Given the description of an element on the screen output the (x, y) to click on. 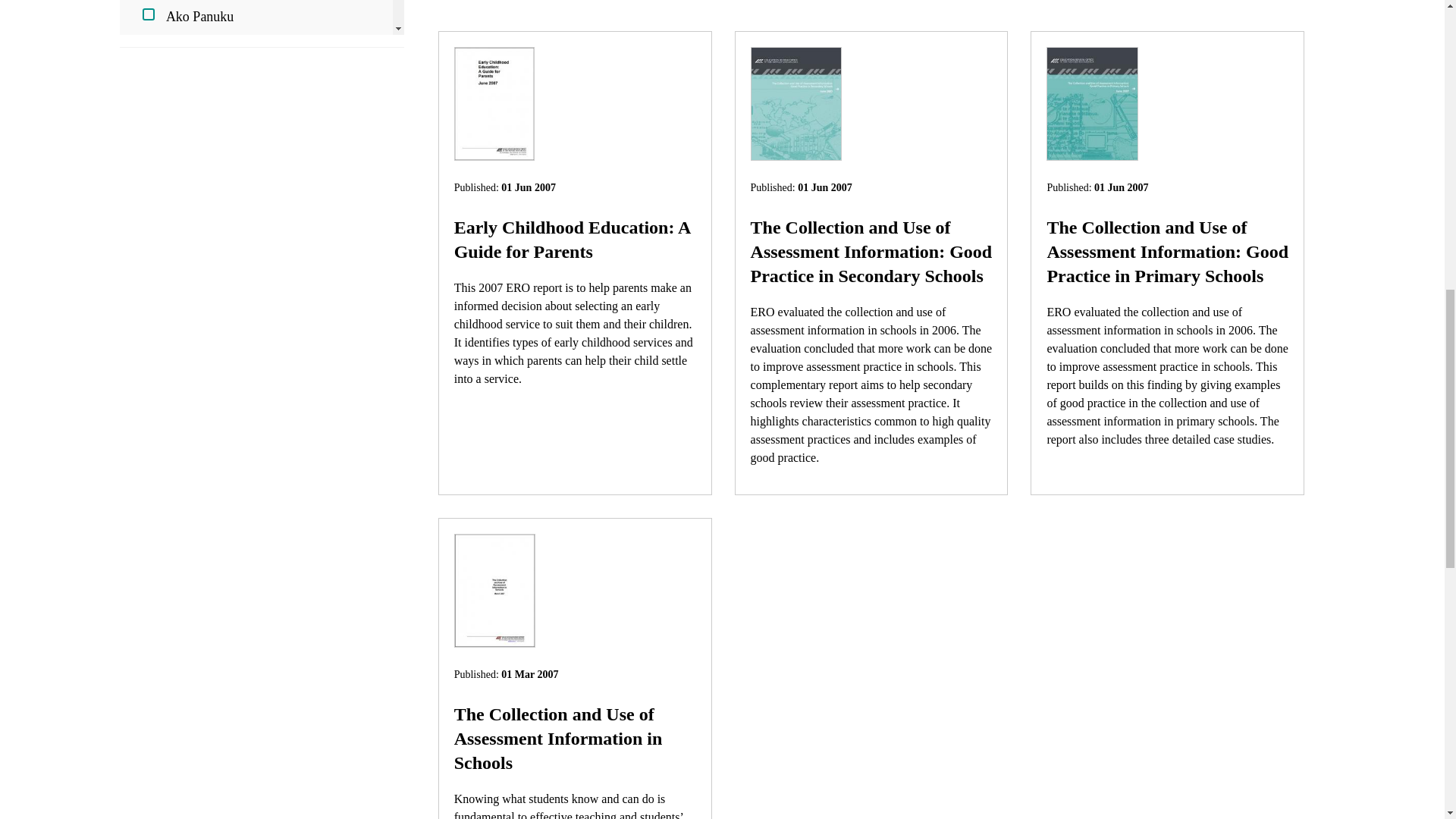
on (148, 203)
on (148, 241)
on (148, 51)
on (148, 165)
on (148, 317)
on (148, 90)
on (148, 279)
on (148, 14)
on (148, 128)
